Given the description of an element on the screen output the (x, y) to click on. 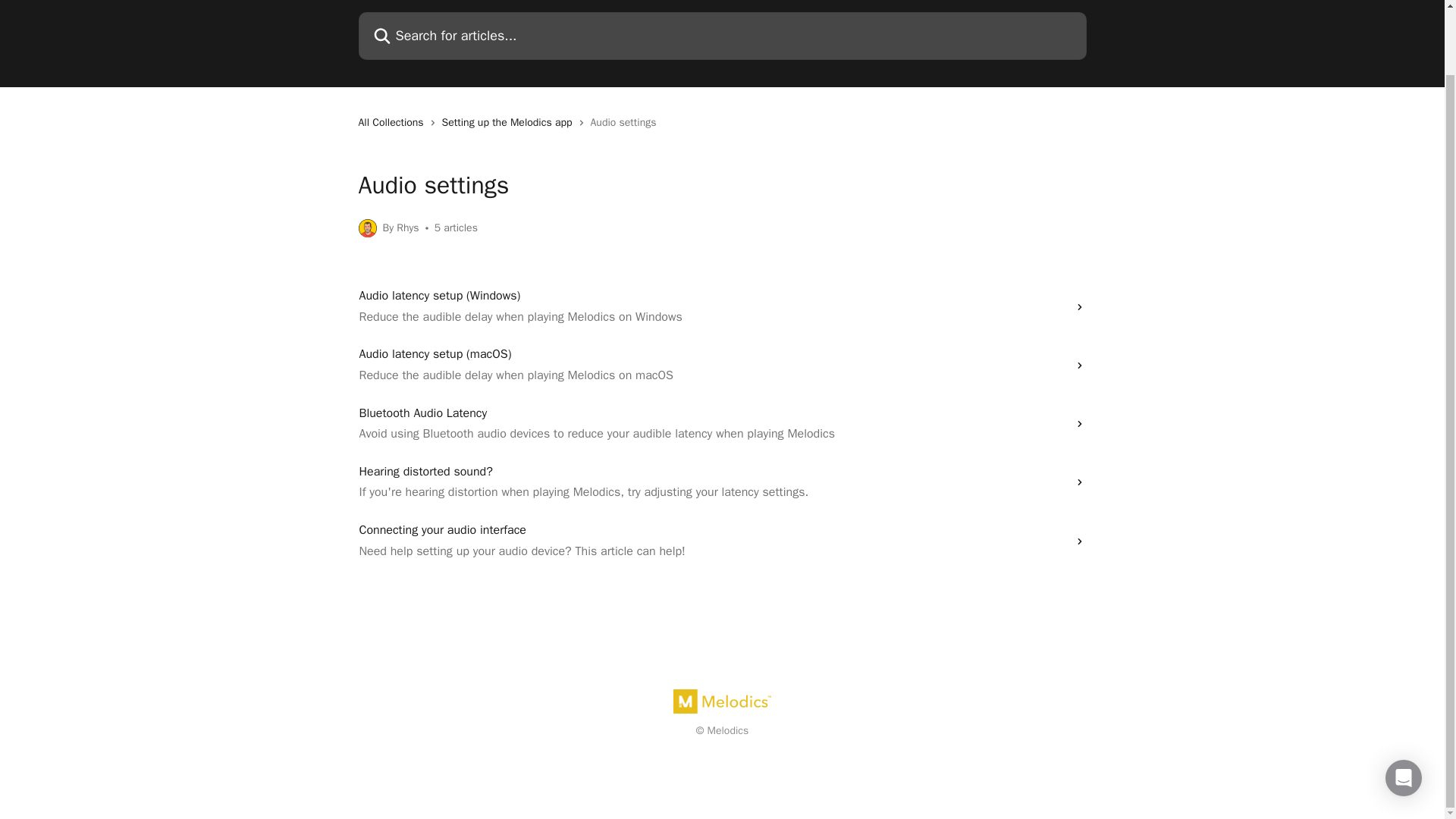
Setting up the Melodics app (510, 122)
All Collections (393, 122)
